Given the description of an element on the screen output the (x, y) to click on. 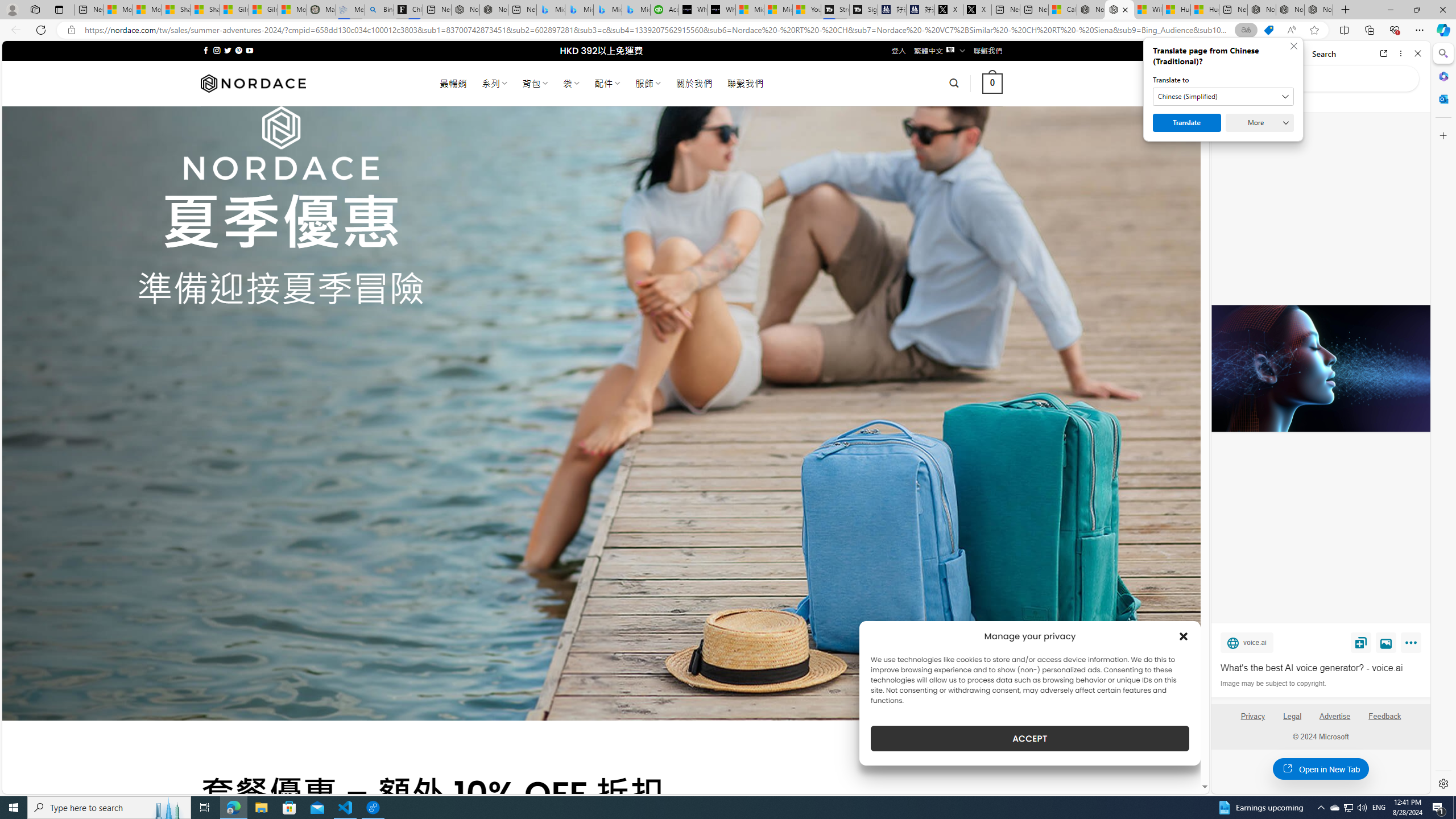
Bing Real Estate - Home sales and rental listings (378, 9)
Settings (1442, 783)
Microsoft Bing Travel - Shangri-La Hotel Bangkok (636, 9)
Follow on Pinterest (237, 50)
ACCEPT (1029, 738)
View site information (70, 29)
Feedback (1384, 715)
Home (1261, 53)
